Given the description of an element on the screen output the (x, y) to click on. 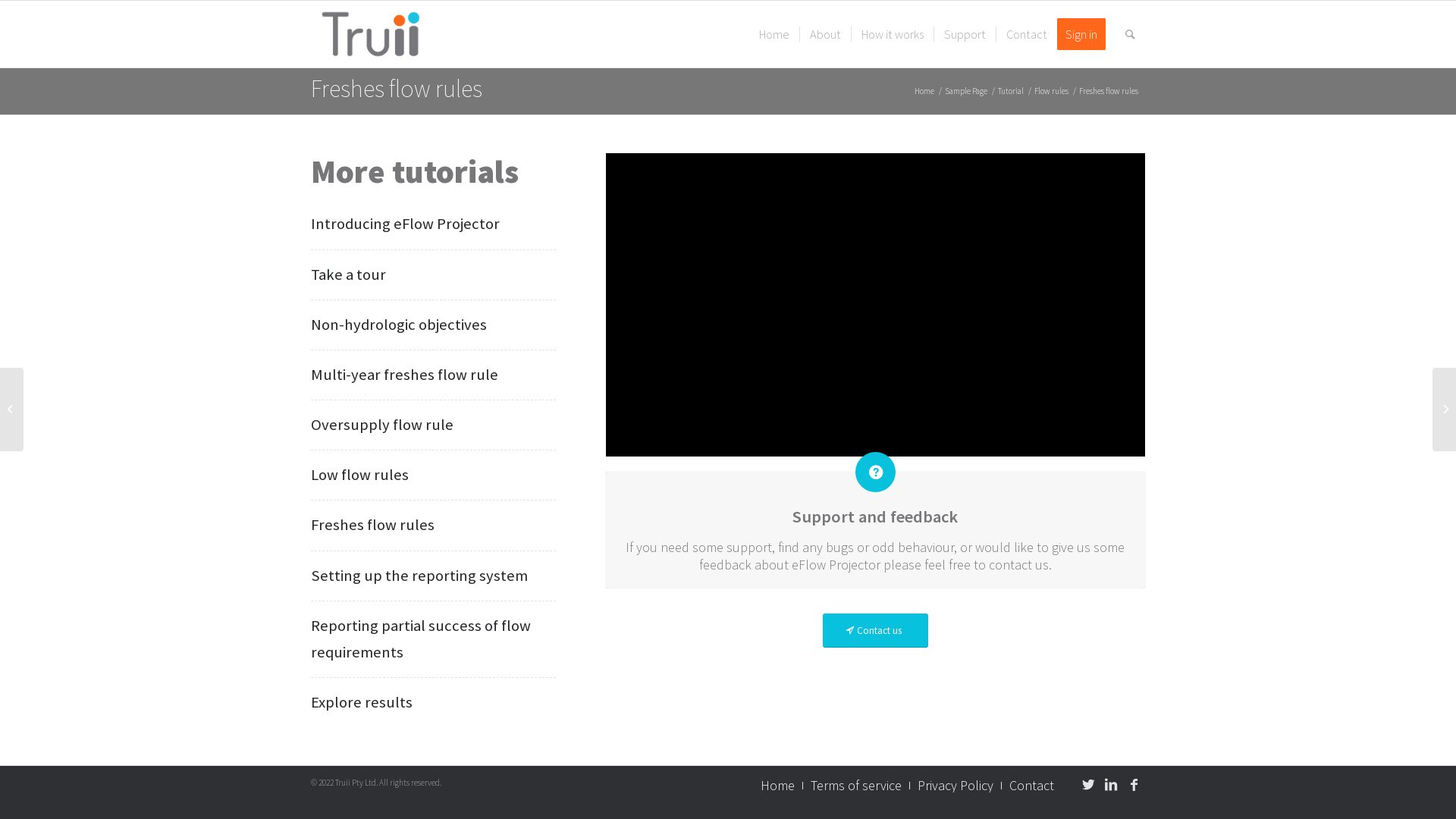
LinkedIn Element type: hover (1110, 784)
Sign in Element type: text (1086, 33)
Oversupply flow rule Element type: text (381, 424)
Setting up the reporting system Element type: text (418, 575)
Introducing eFlow Projector Element type: text (404, 223)
Home Element type: text (924, 91)
Take a tour Element type: text (347, 273)
Contact us Element type: text (875, 630)
Privacy Policy Element type: text (955, 784)
eFlow Projector: Freshes Flow Rule Element type: hover (875, 304)
Sample Page Element type: text (965, 91)
Non-hydrologic objectives Element type: text (398, 324)
Tutorial Element type: text (1010, 91)
Freshes flow rules Element type: text (372, 524)
Low flow rules Element type: text (359, 474)
Multi-year freshes flow rule Element type: text (404, 374)
Explore results Element type: text (361, 702)
Contact Element type: text (1026, 33)
Reporting partial success of flow requirements Element type: text (420, 638)
Terms of service Element type: text (855, 784)
How it works Element type: text (891, 33)
Support Element type: text (964, 33)
Home Element type: text (777, 784)
Facebook Element type: hover (1133, 784)
Contact Element type: text (1031, 784)
About Element type: text (824, 33)
Freshes flow rules Element type: text (396, 88)
Flow rules Element type: text (1051, 91)
Home Element type: text (774, 33)
Twitter Element type: hover (1087, 784)
